Given the description of an element on the screen output the (x, y) to click on. 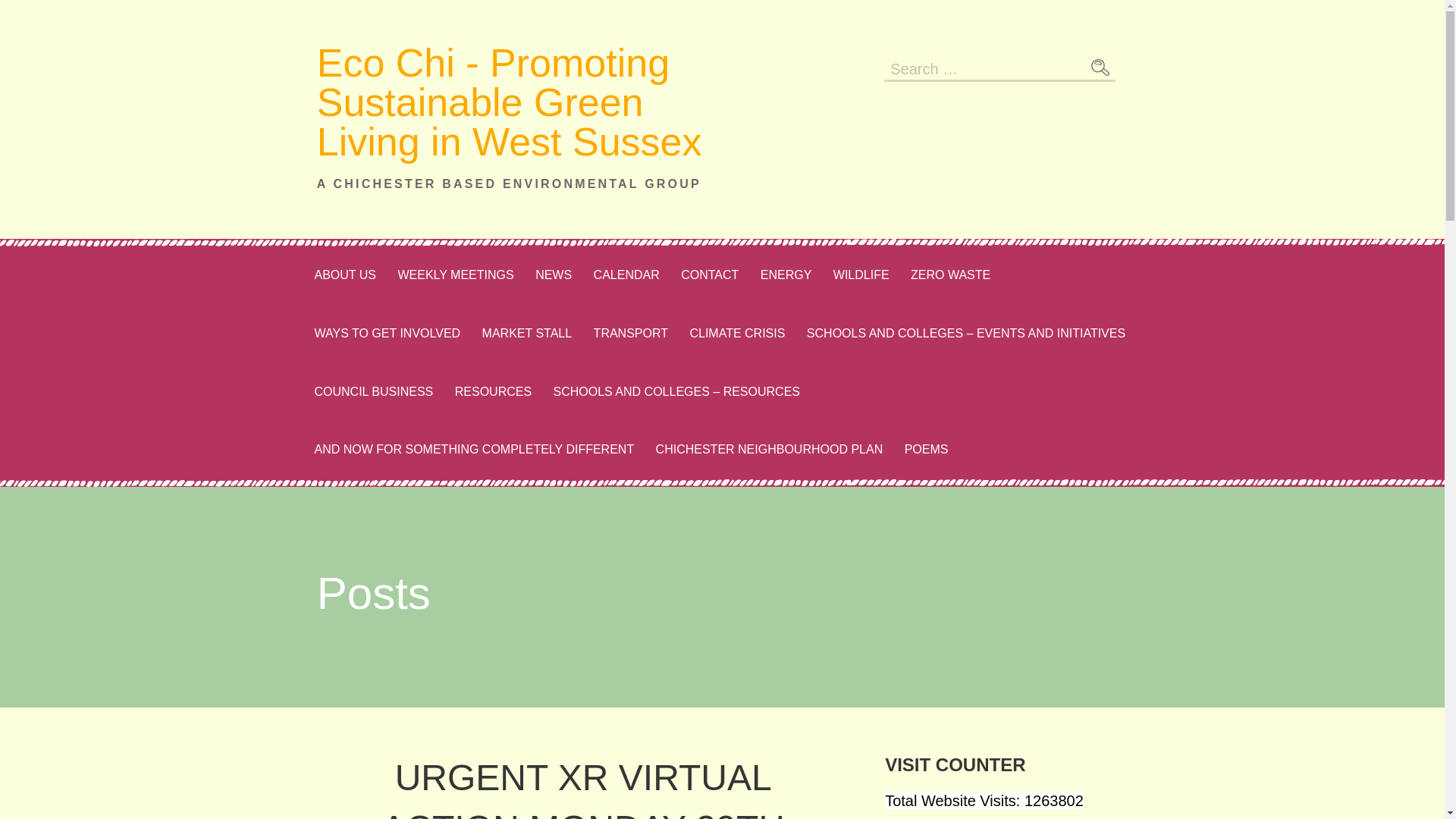
WEEKLY MEETINGS (455, 275)
COUNCIL BUSINESS (373, 392)
ABOUT US (344, 275)
MARKET STALL (526, 333)
Search (1099, 67)
WILDLIFE (861, 275)
RESOURCES (492, 392)
CONTACT (709, 275)
